Given the description of an element on the screen output the (x, y) to click on. 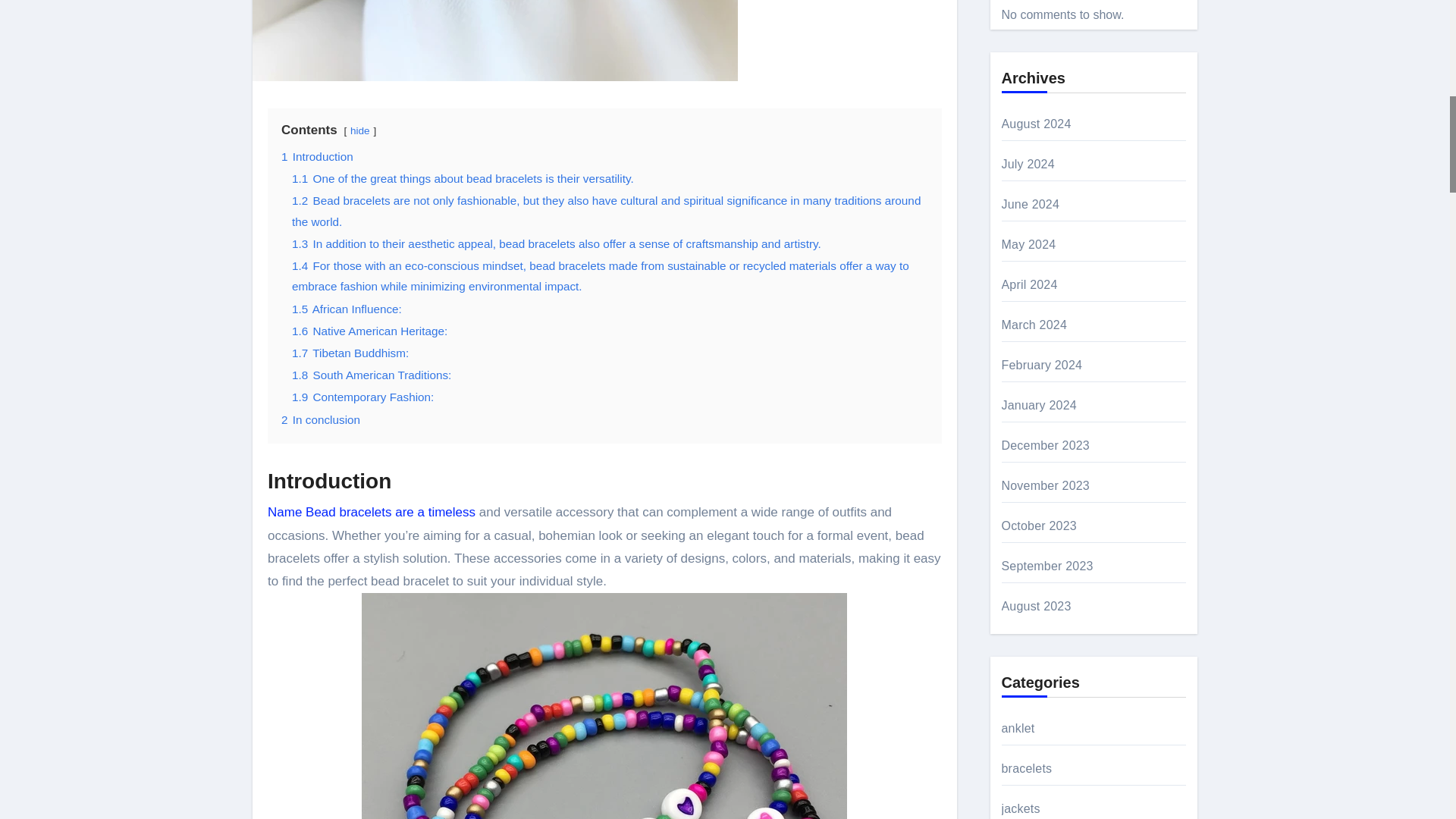
hide (359, 130)
Name Bead bracelets (330, 512)
are a timeless (435, 512)
1.7 Tibetan Buddhism: (350, 352)
1 Introduction (317, 155)
1.8 South American Traditions: (371, 374)
1.5 African Influence: (346, 308)
2 In conclusion (320, 419)
1.9 Contemporary Fashion: (362, 396)
1.6 Native American Heritage: (369, 330)
